Given the description of an element on the screen output the (x, y) to click on. 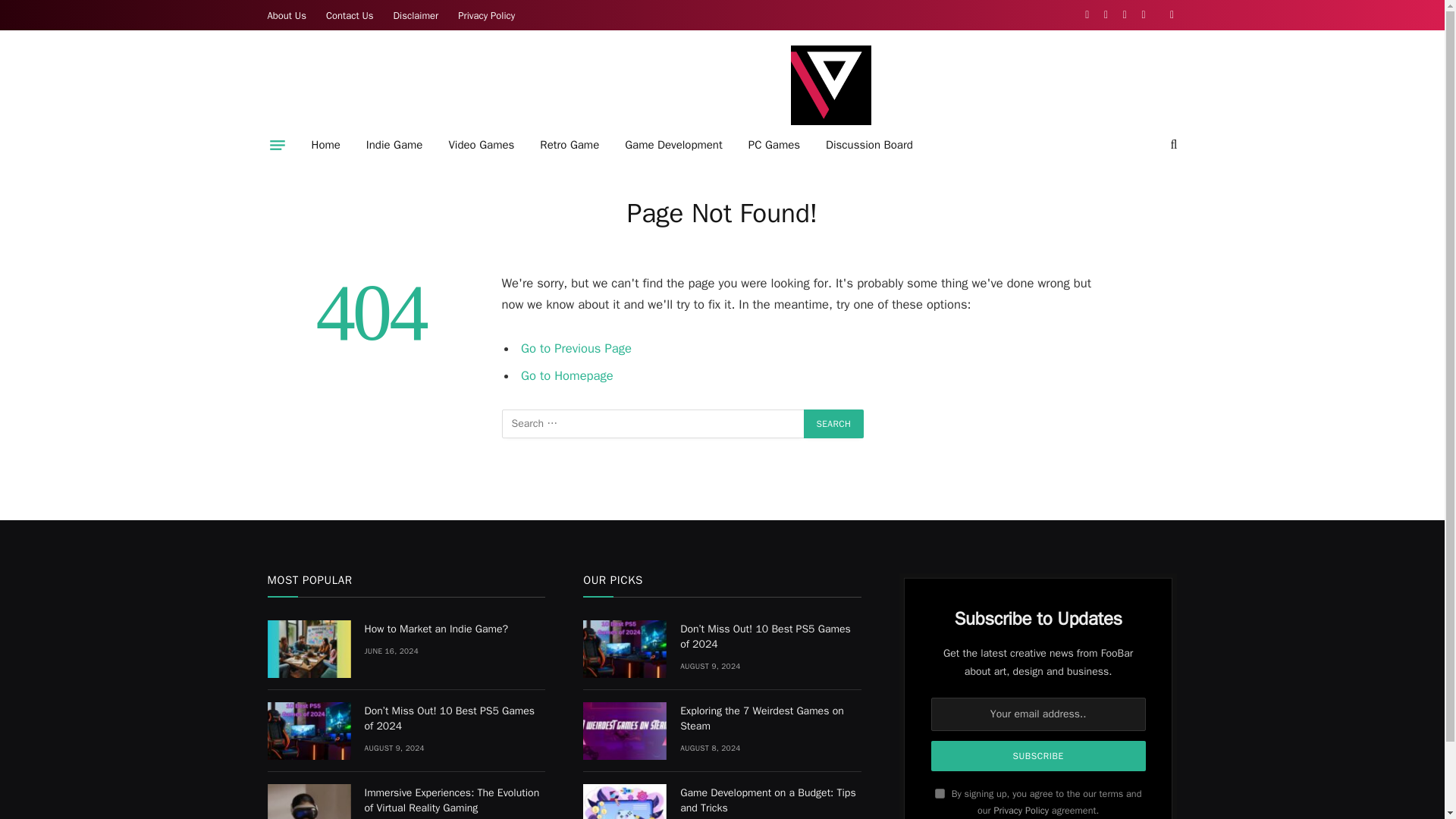
Privacy Policy (486, 15)
How to Market an Indie Game? (454, 629)
on (939, 793)
Search (833, 423)
About Us (286, 15)
Subscribe (1038, 756)
Indie Game (394, 144)
Home (325, 144)
Search (833, 423)
Go to Previous Page (576, 348)
